Given the description of an element on the screen output the (x, y) to click on. 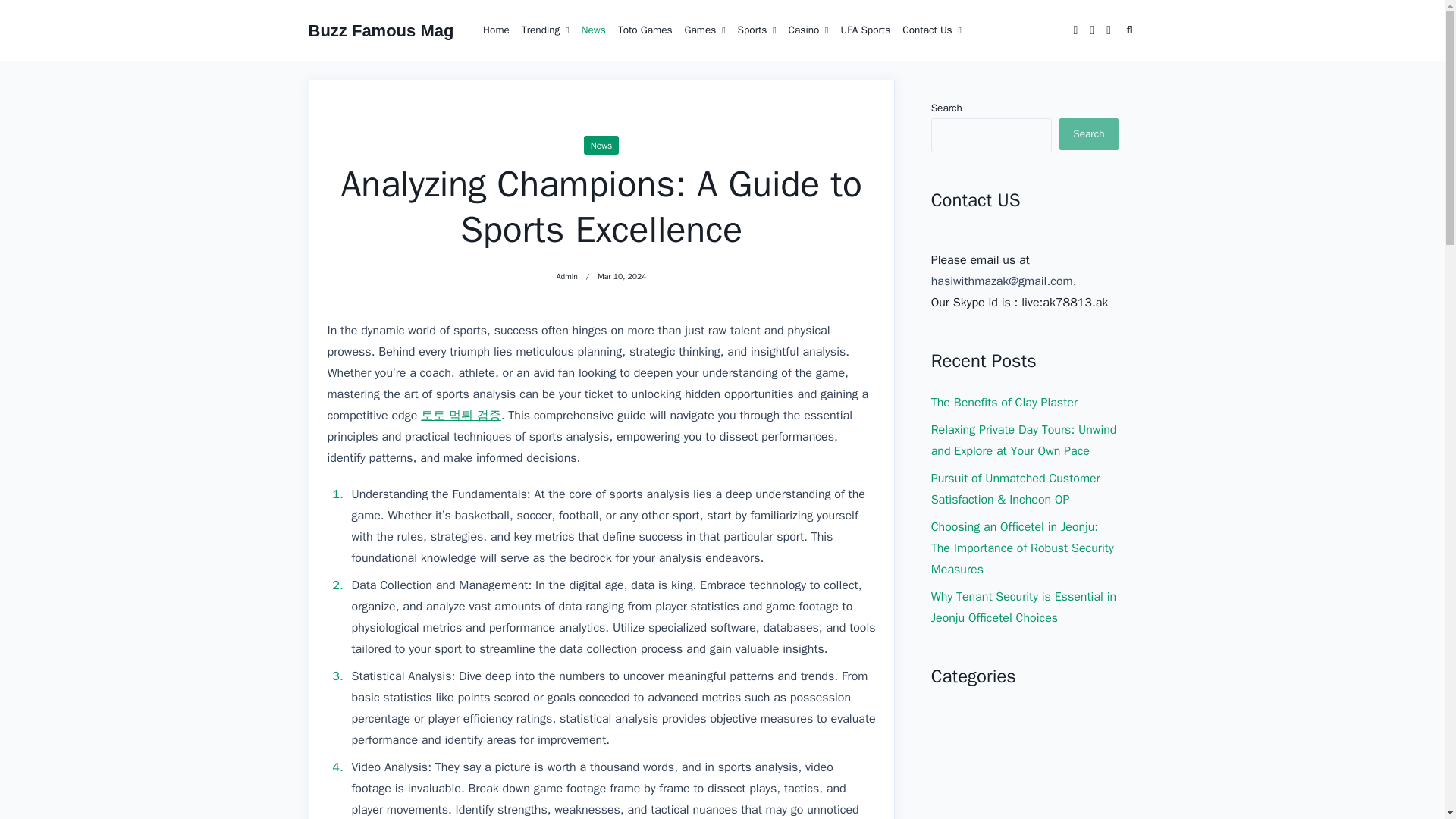
Contact Us (932, 30)
Toto Games (644, 30)
Home (496, 30)
Trending (545, 30)
Casino (808, 30)
Contact US (1024, 200)
Categories (1024, 124)
Sports (1024, 677)
Games (757, 30)
UFA Sports (705, 30)
News (865, 30)
Buzz Famous Mag (593, 30)
